Given the description of an element on the screen output the (x, y) to click on. 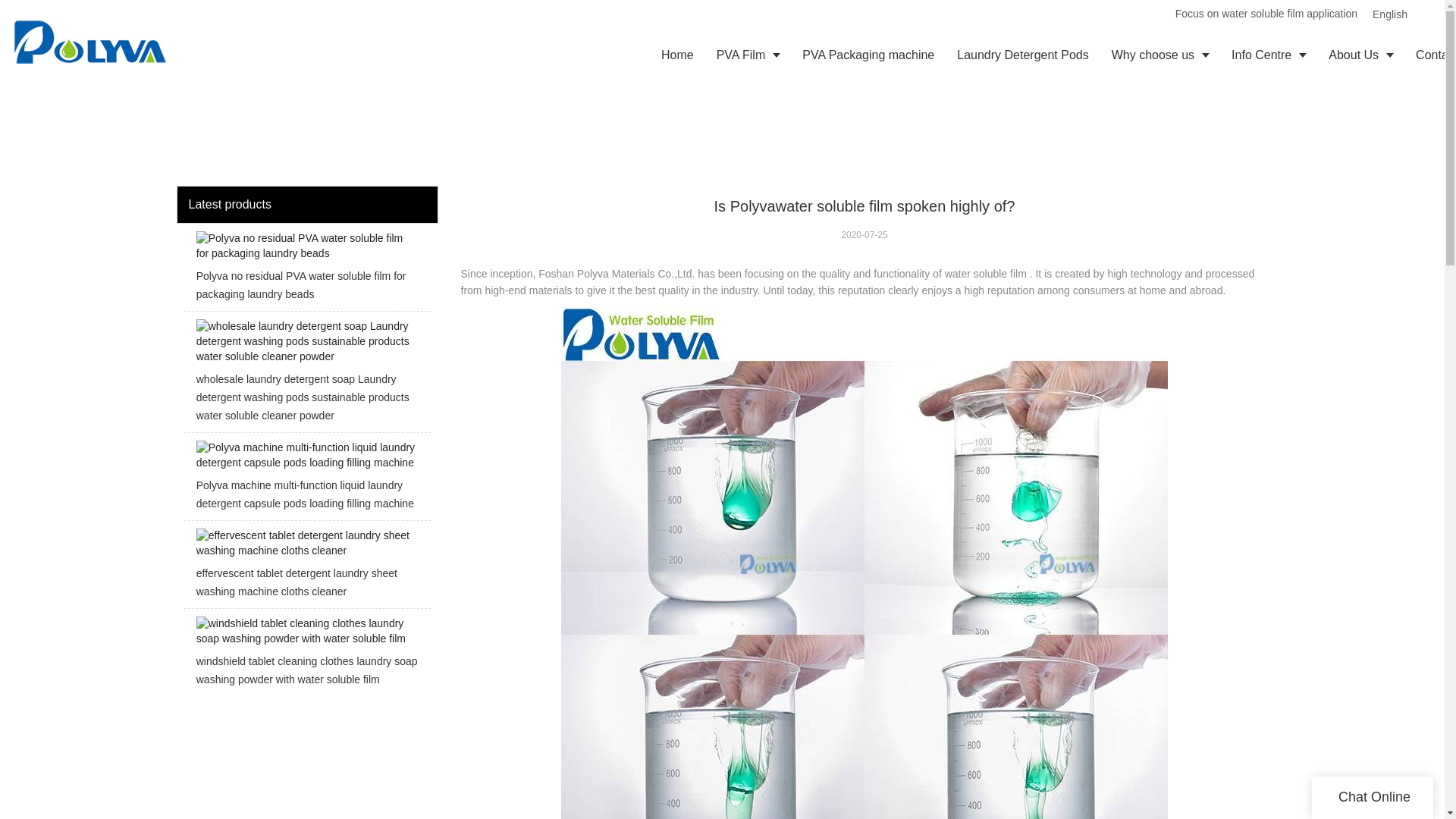
Info Centre (1268, 55)
Why choose us (1160, 55)
Home (676, 55)
Laundry Detergent Pods (1021, 55)
PVA Film (748, 55)
PVA Packaging machine (867, 55)
About Us (1361, 55)
